Given the description of an element on the screen output the (x, y) to click on. 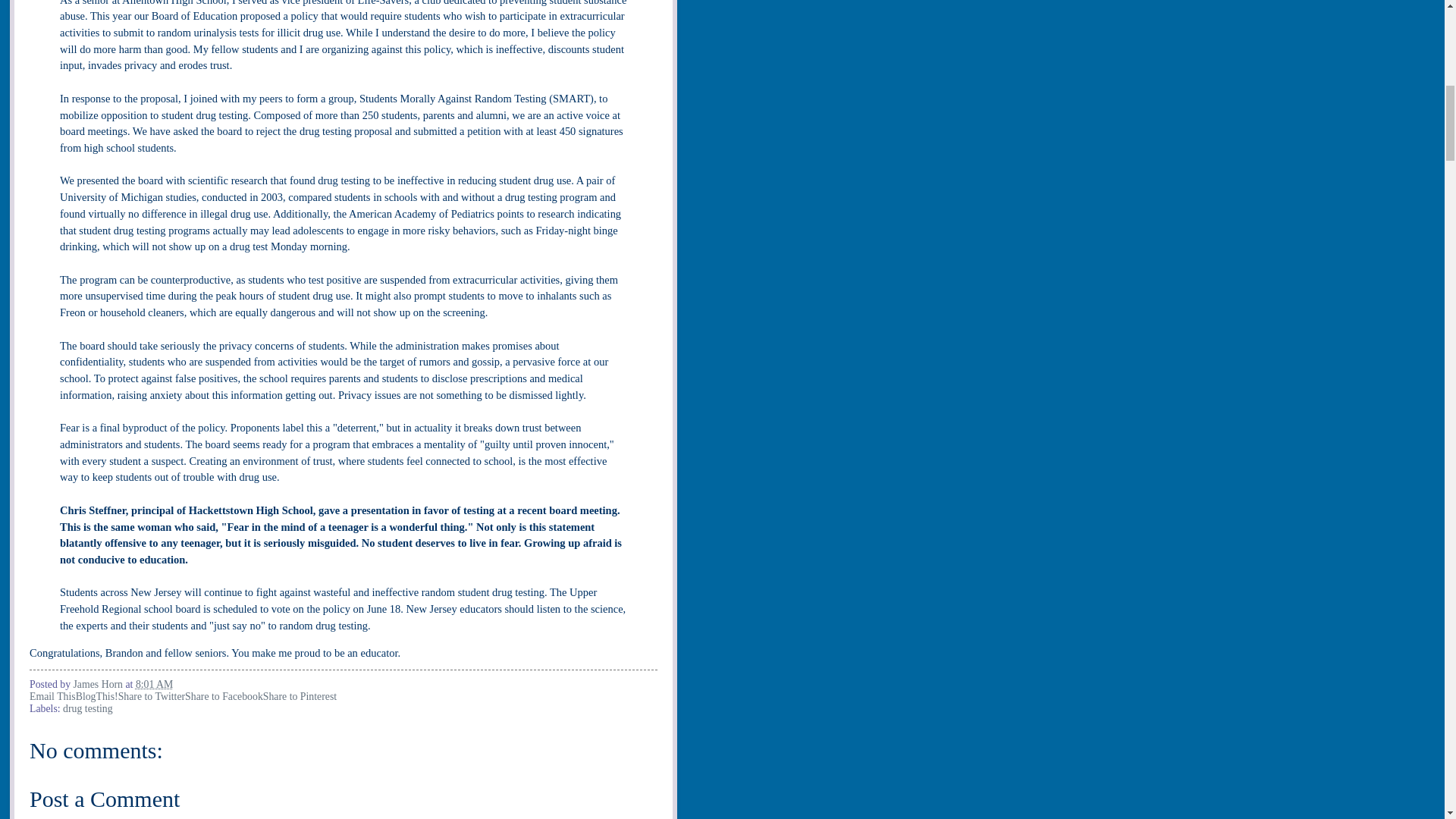
BlogThis! (96, 696)
BlogThis! (96, 696)
Share to Twitter (150, 696)
Share to Pinterest (299, 696)
drug testing (87, 708)
Share to Facebook (223, 696)
Share to Pinterest (299, 696)
permanent link (154, 684)
Share to Facebook (223, 696)
James Horn (98, 684)
8:01 AM (154, 684)
Email This (52, 696)
Share to Twitter (150, 696)
author profile (98, 684)
Email This (52, 696)
